Given the description of an element on the screen output the (x, y) to click on. 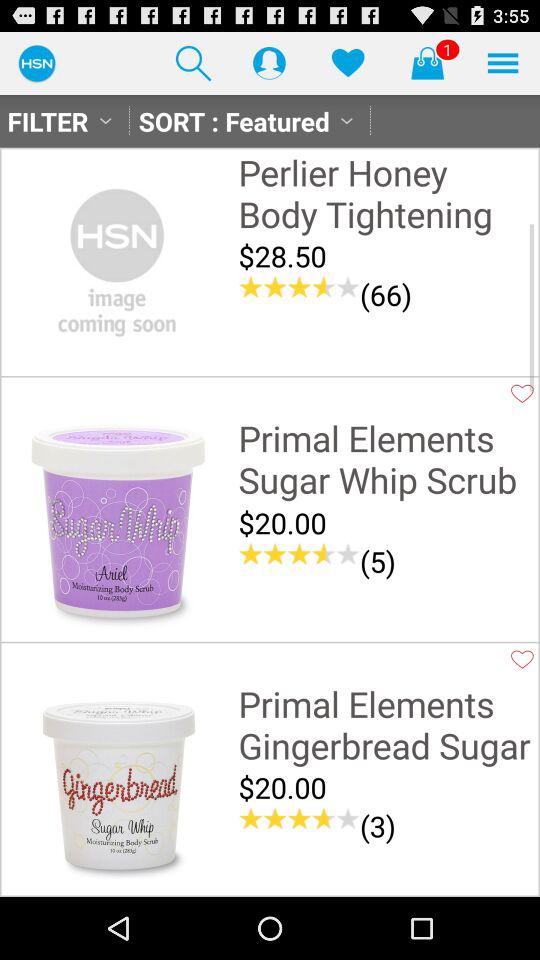
launch the icon below the $20.00 item (299, 553)
